Given the description of an element on the screen output the (x, y) to click on. 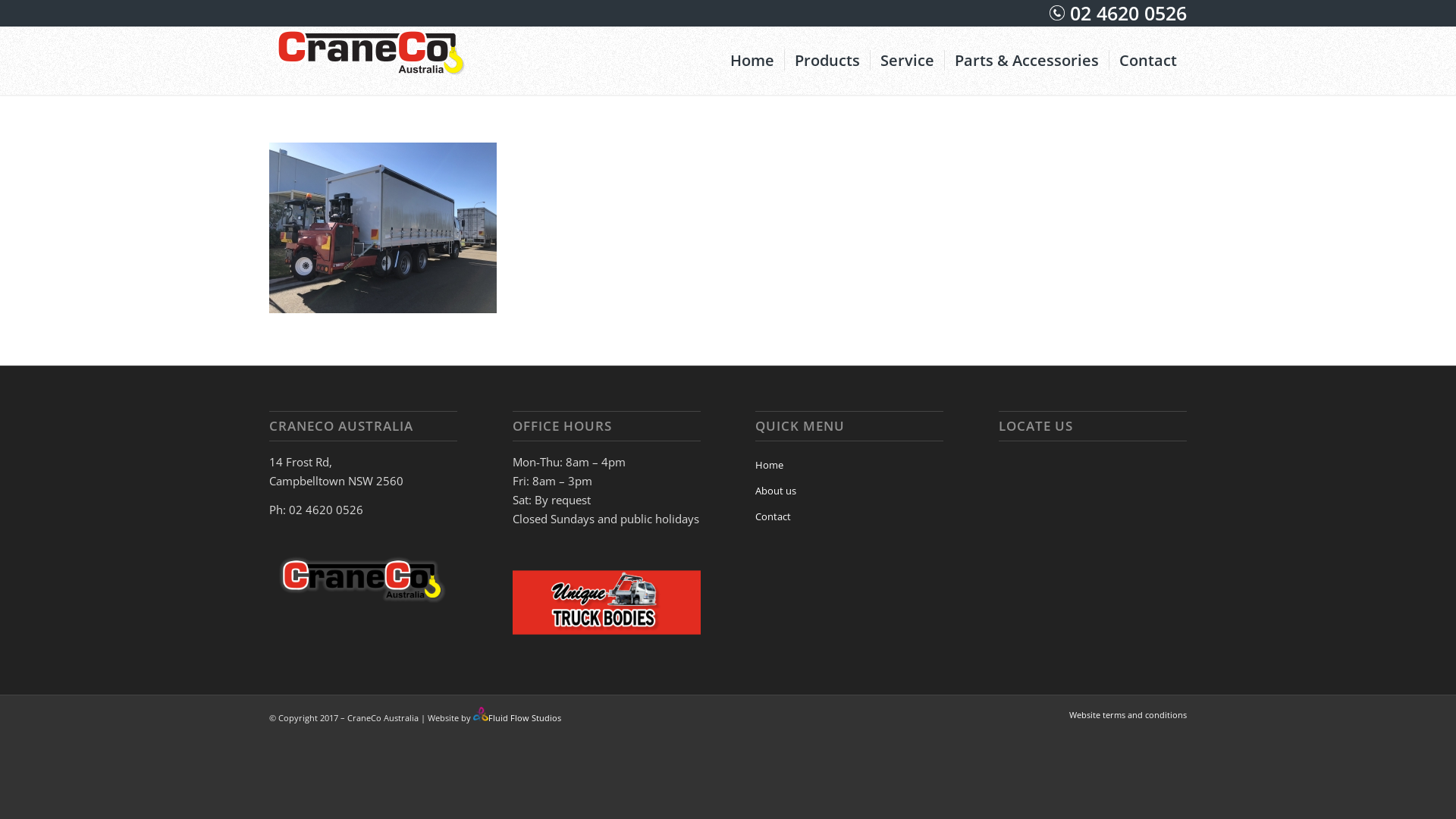
Home Element type: text (752, 60)
Parts & Accessories Element type: text (1026, 60)
Products Element type: text (826, 60)
Contact Element type: text (849, 517)
Home Element type: text (849, 465)
About us Element type: text (849, 491)
Website terms and conditions Element type: text (1127, 714)
Fluid Flow Studios Element type: text (524, 717)
Service Element type: text (906, 60)
Contact Element type: text (1147, 60)
02 4620 0526 Element type: text (1125, 12)
